Given the description of an element on the screen output the (x, y) to click on. 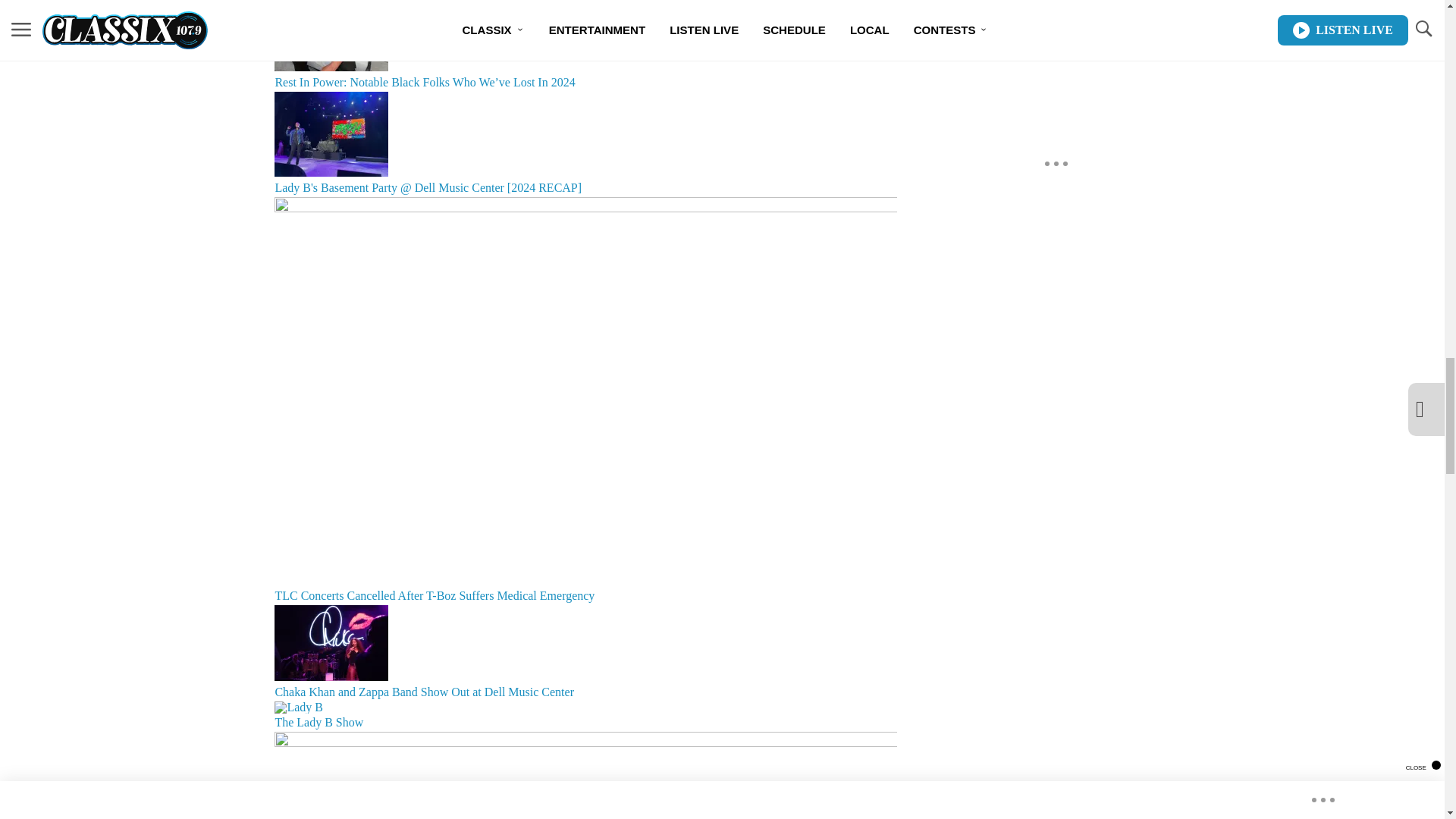
30 Funny Fantasy Football Team Names Using Rapper Names (585, 775)
The Lady B Show (585, 716)
Chaka Khan and Zappa Band Show Out at Dell Music Center (585, 653)
